Given the description of an element on the screen output the (x, y) to click on. 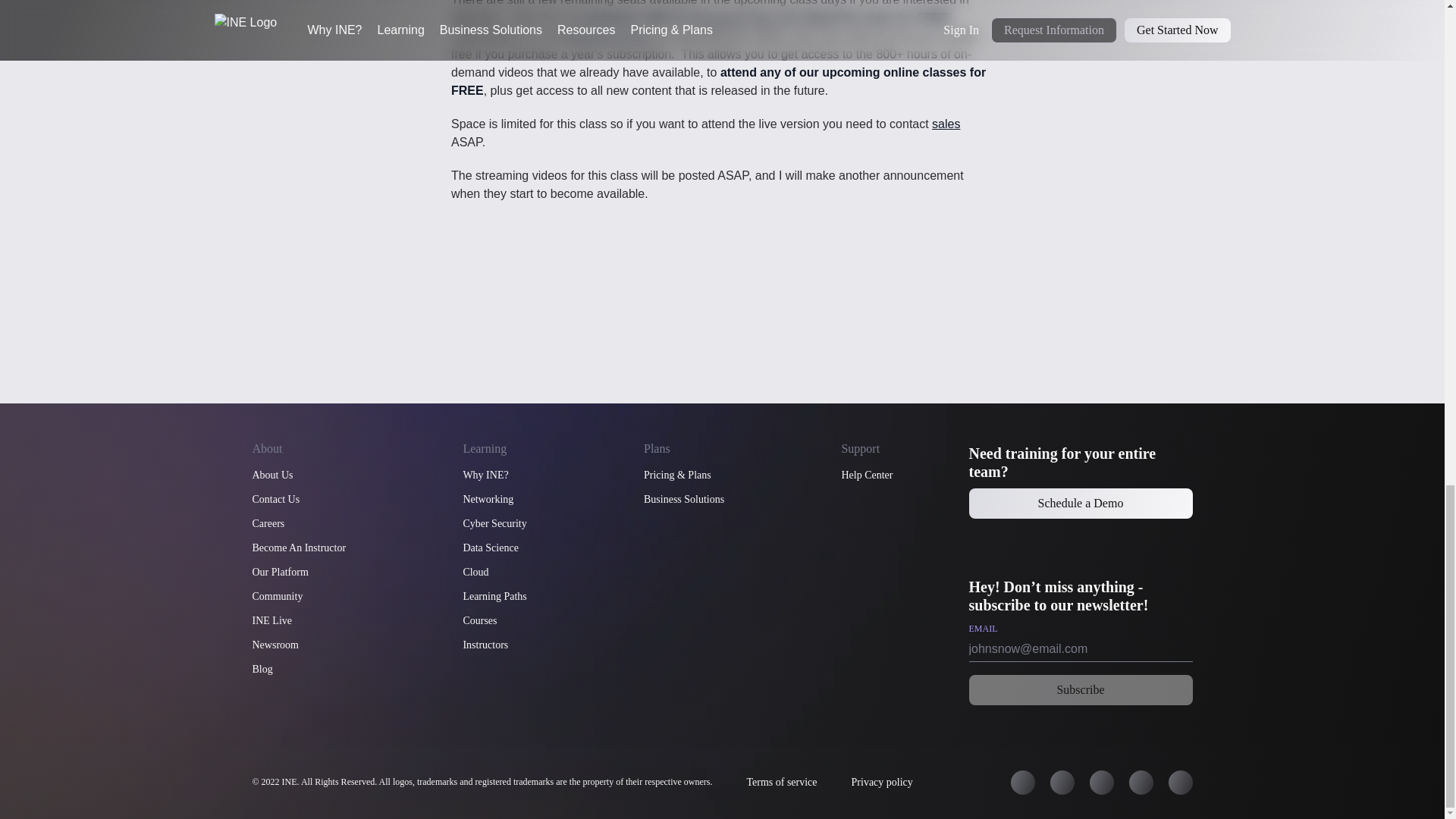
CCIE Sales (945, 123)
Subscribe (1080, 689)
All Access Pass (606, 35)
sales (945, 123)
Schedule a Demo (1080, 503)
All Access Pass (731, 17)
